Given the description of an element on the screen output the (x, y) to click on. 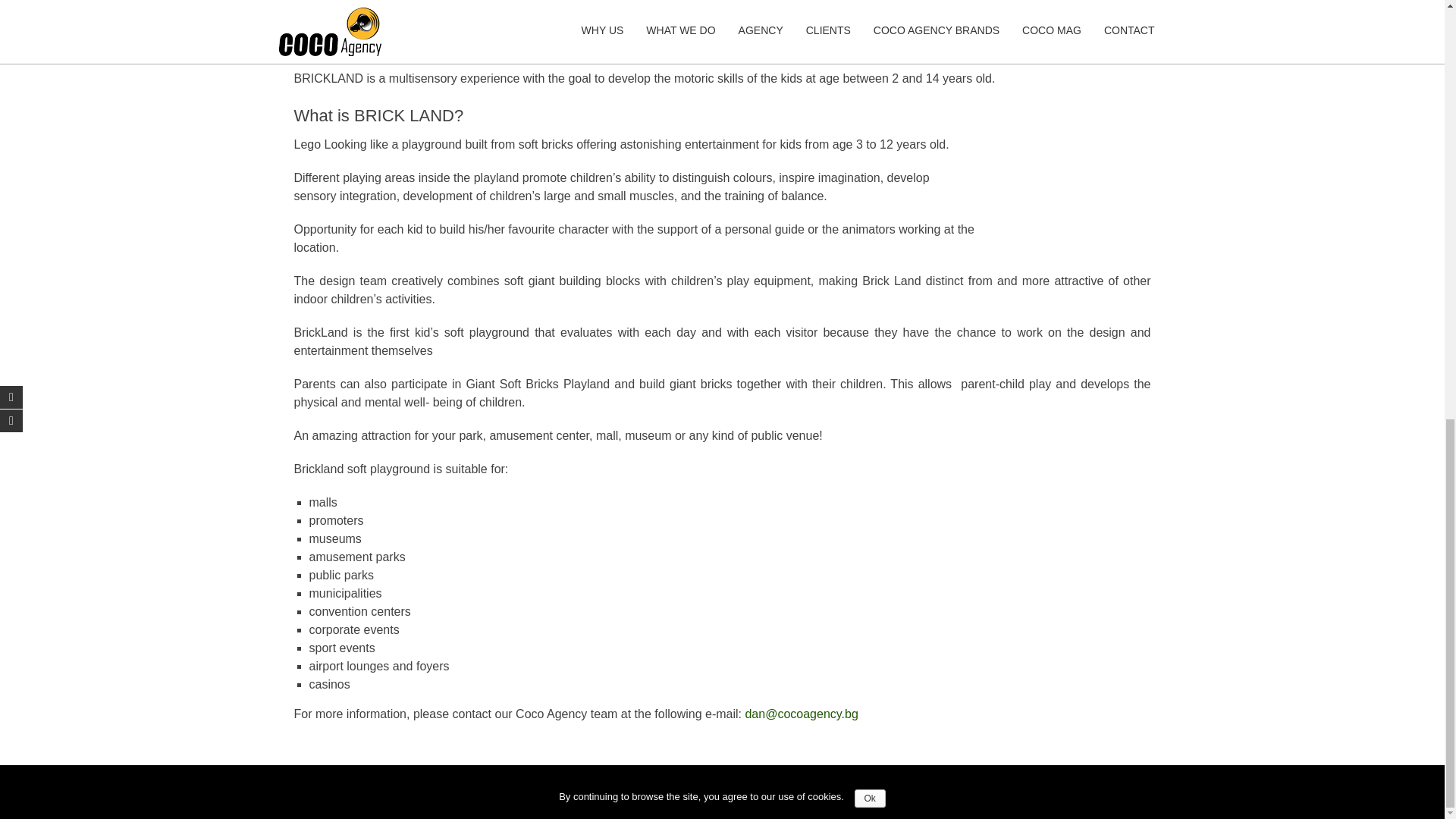
COCO AGENCY (740, 784)
COCO AGENCY (740, 784)
